Given the description of an element on the screen output the (x, y) to click on. 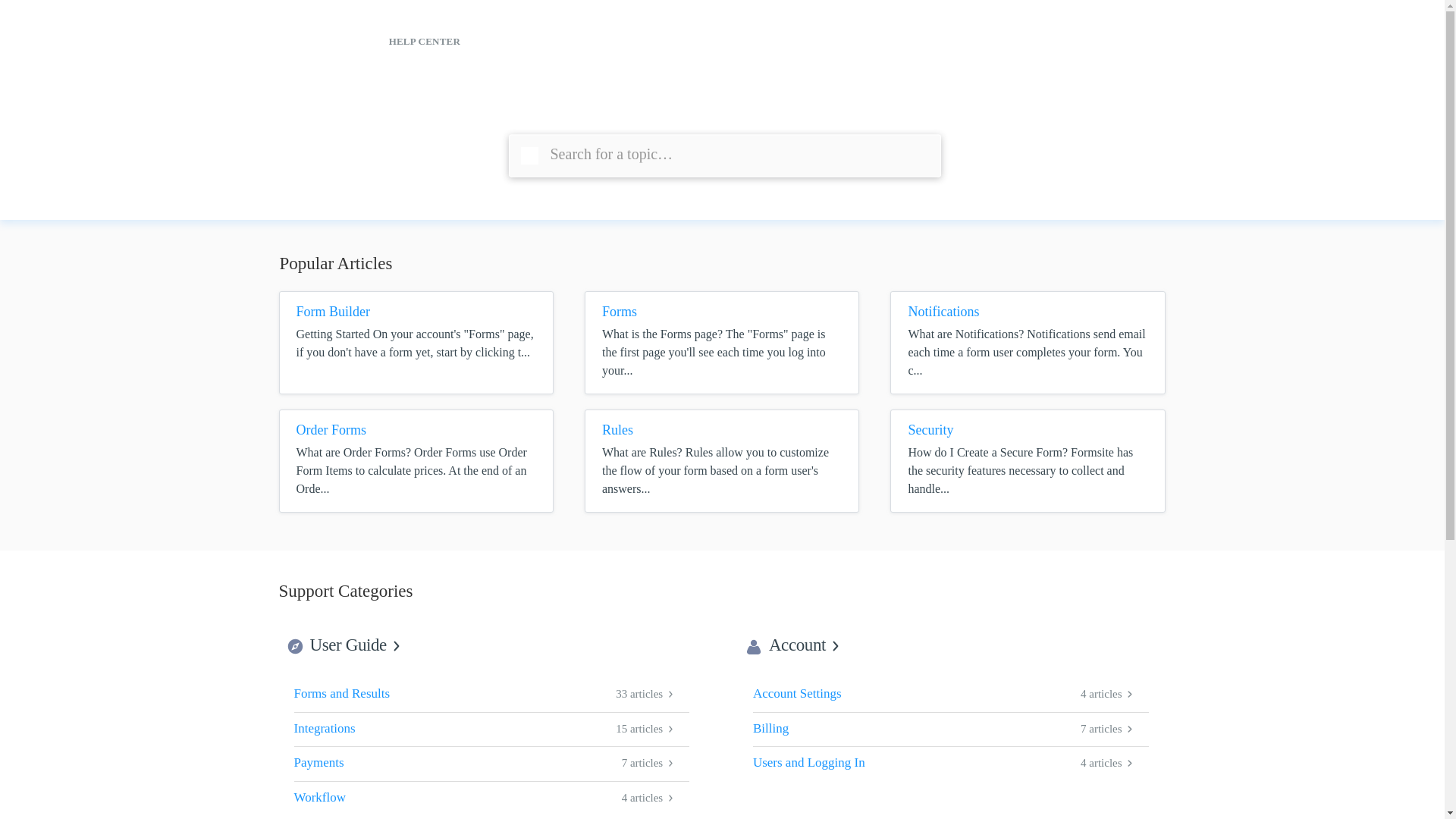
User Guide (492, 694)
